Given the description of an element on the screen output the (x, y) to click on. 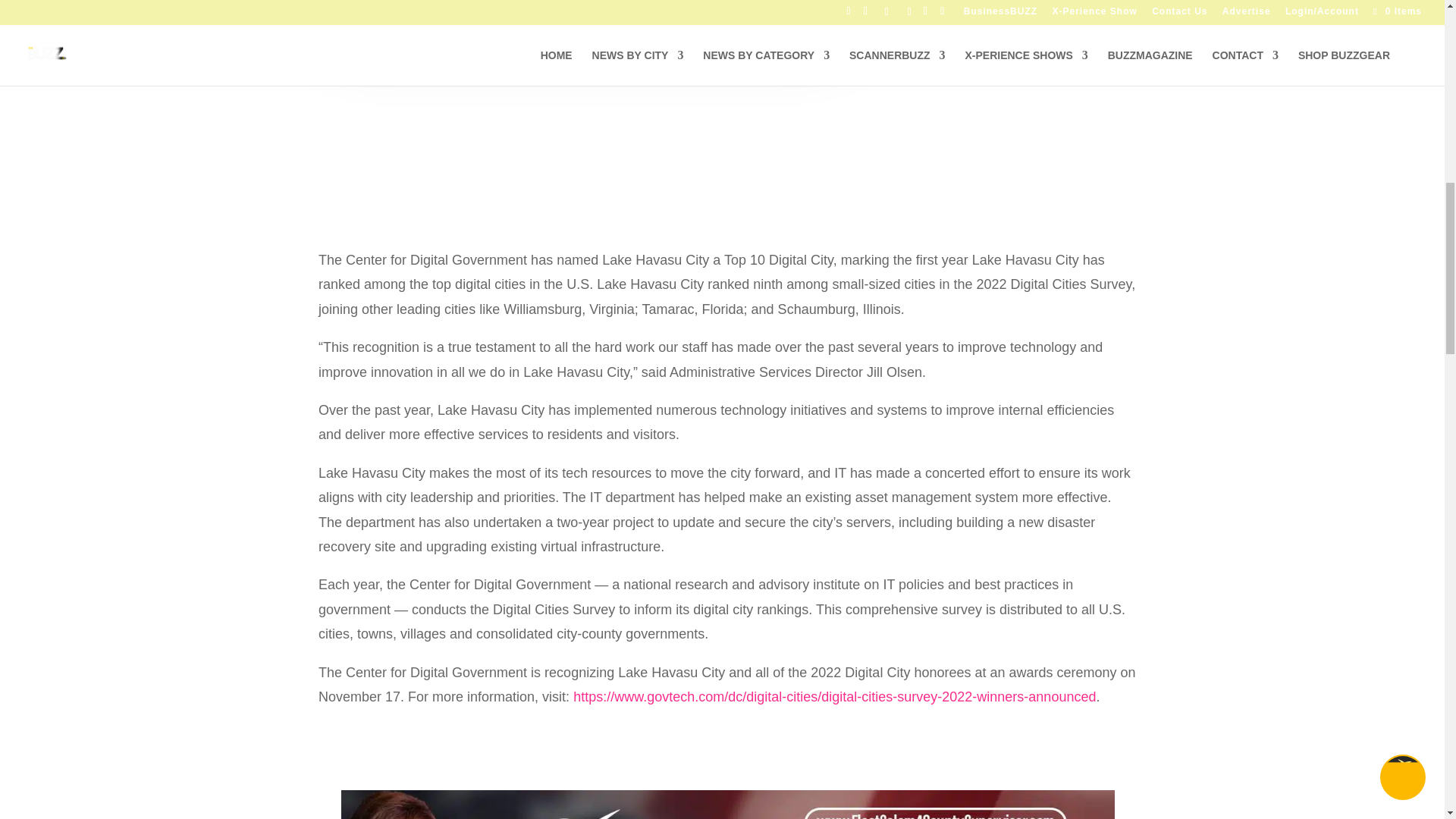
3-30-21 Lake Havasu City Hall (587, 15)
